Given the description of an element on the screen output the (x, y) to click on. 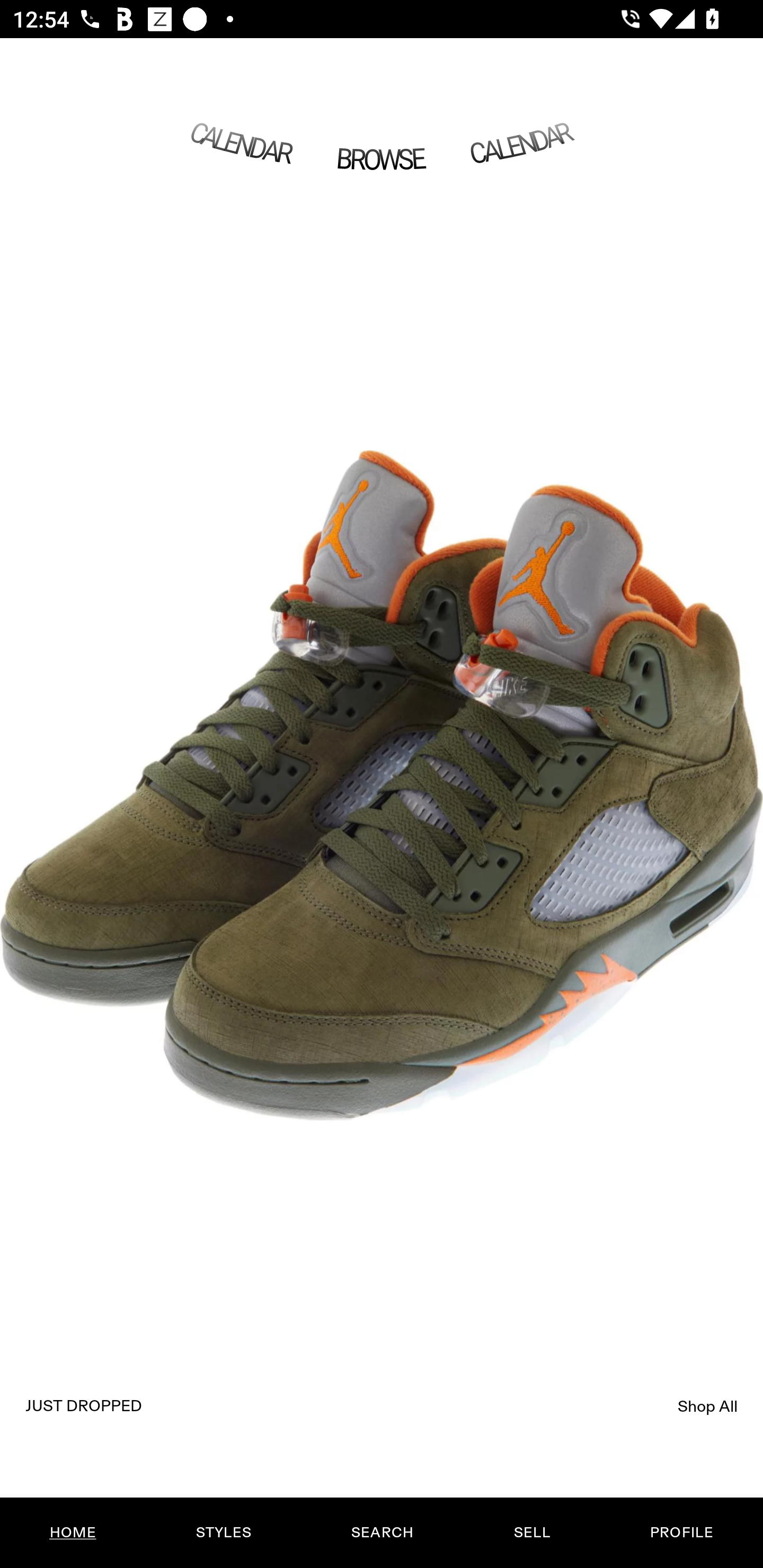
Shop All (707, 1406)
HOME (72, 1532)
STYLES (222, 1532)
SEARCH (381, 1532)
SELL (531, 1532)
PROFILE (681, 1532)
